Given the description of an element on the screen output the (x, y) to click on. 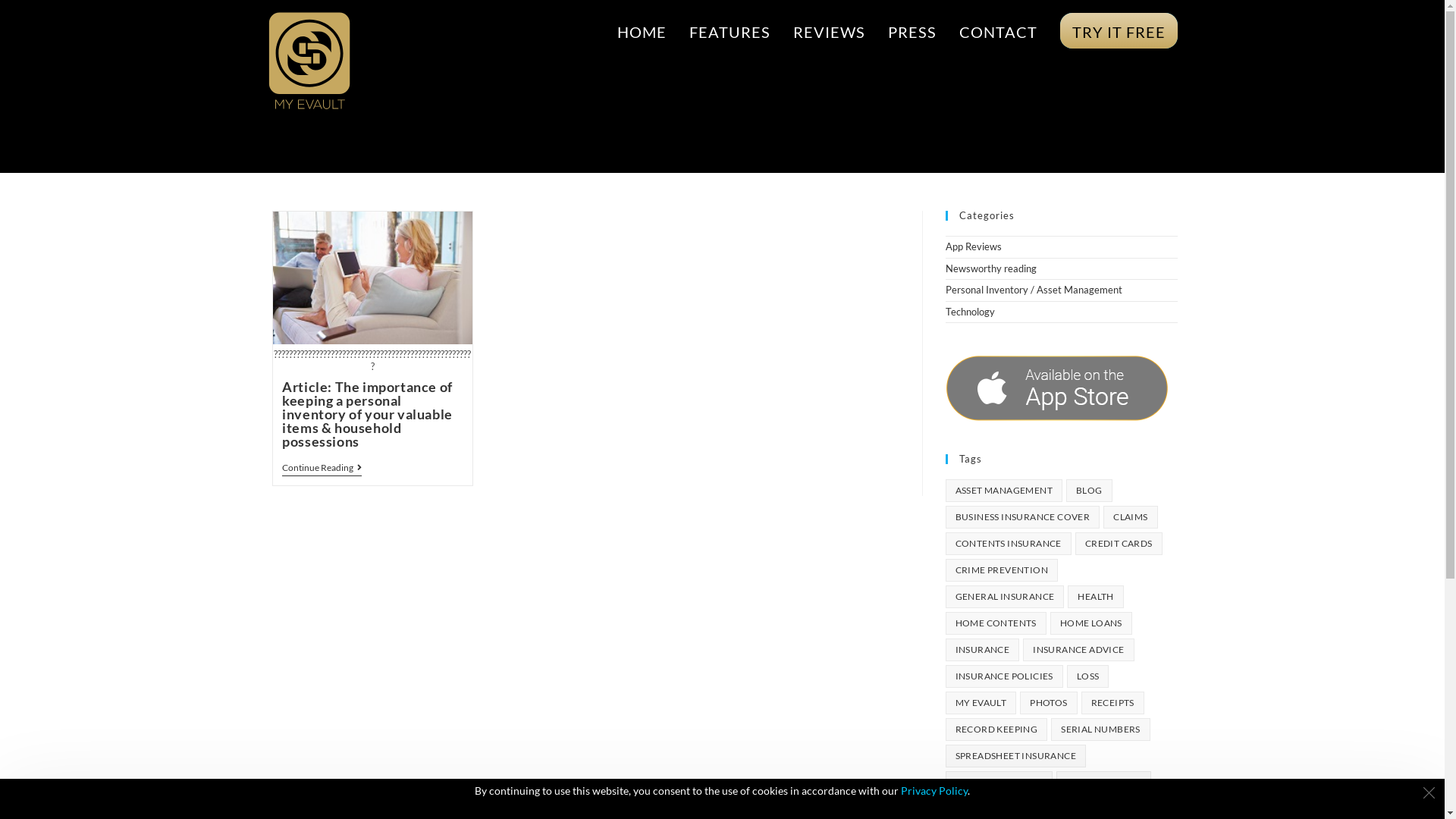
INSURANCE POLICIES Element type: text (1003, 676)
BUSINESS INSURANCE COVER Element type: text (1021, 516)
PHOTOS Element type: text (1047, 702)
UNDERINSURANCE Element type: text (998, 782)
TRY IT FREE Element type: text (1118, 31)
Personal Inventory / Asset Management Element type: text (1032, 289)
Newsworthy reading Element type: text (989, 268)
CLAIMS Element type: text (1130, 516)
PRESS Element type: text (911, 31)
UNDERINSURED Element type: text (1103, 782)
CREDIT CARDS Element type: text (1118, 543)
INSURANCE Element type: text (981, 649)
Technology Element type: text (969, 311)
ASSET MANAGEMENT Element type: text (1002, 490)
CRIME PREVENTION Element type: text (1000, 569)
CONTENTS INSURANCE Element type: text (1007, 543)
BLOG Element type: text (1089, 490)
App Reviews Element type: text (972, 246)
SERIAL NUMBERS Element type: text (1100, 729)
SPREADSHEET INSURANCE Element type: text (1014, 755)
INSURANCE ADVICE Element type: text (1077, 649)
HOME CONTENTS Element type: text (994, 622)
HOME Element type: text (641, 31)
HEALTH Element type: text (1095, 596)
LOSS Element type: text (1087, 676)
RECORD KEEPING Element type: text (995, 729)
FEATURES Element type: text (729, 31)
GENERAL INSURANCE Element type: text (1003, 596)
CONTACT Element type: text (997, 31)
HOME LOANS Element type: text (1091, 622)
Continue Reading Element type: text (321, 468)
RECEIPTS Element type: text (1112, 702)
MY EVAULT Element type: text (980, 702)
REVIEWS Element type: text (828, 31)
Privacy Policy Element type: text (933, 790)
